Given the description of an element on the screen output the (x, y) to click on. 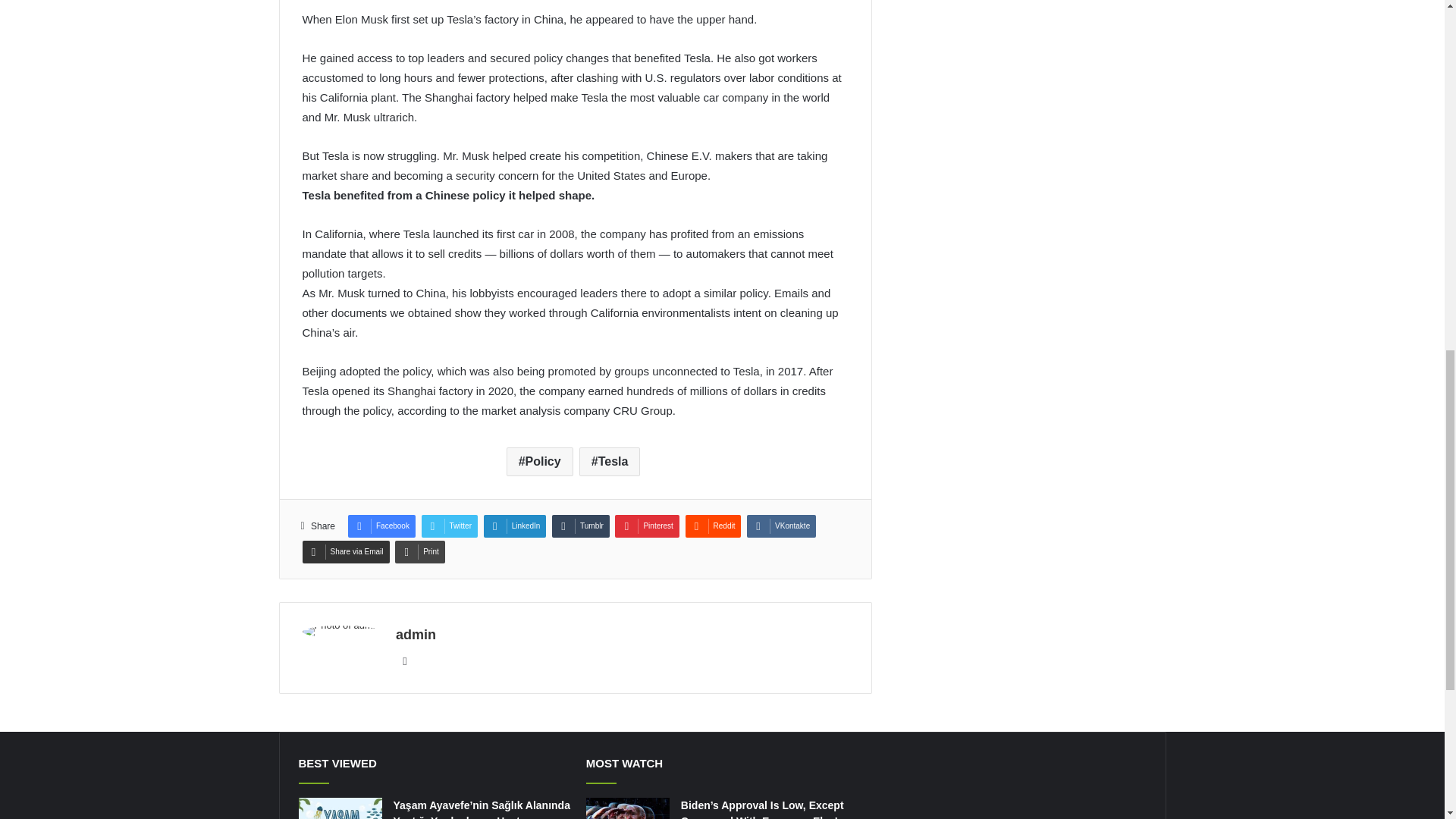
Reddit (713, 526)
Pinterest (646, 526)
Facebook (380, 526)
Tesla (609, 461)
Tumblr (580, 526)
VKontakte (780, 526)
Twitter (449, 526)
Share via Email (344, 551)
Policy (539, 461)
LinkedIn (515, 526)
